Given the description of an element on the screen output the (x, y) to click on. 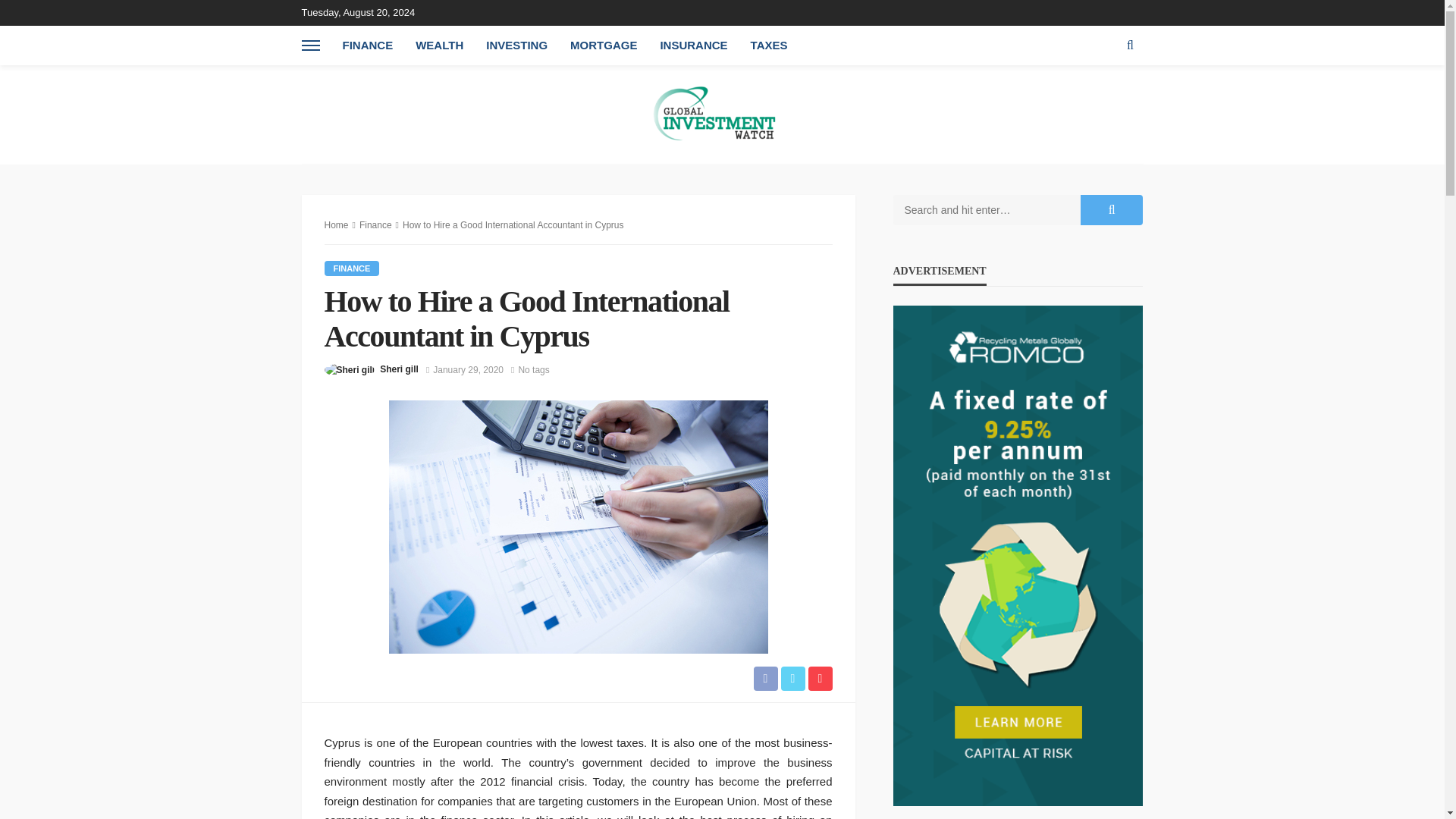
INSURANCE (692, 45)
Global Investment Watch (721, 114)
WEALTH (439, 45)
Sheri gill (399, 368)
MORTGAGE (603, 45)
INVESTING (516, 45)
Finance (375, 225)
Finance (352, 268)
TAXES (769, 45)
FINANCE (352, 268)
